Given the description of an element on the screen output the (x, y) to click on. 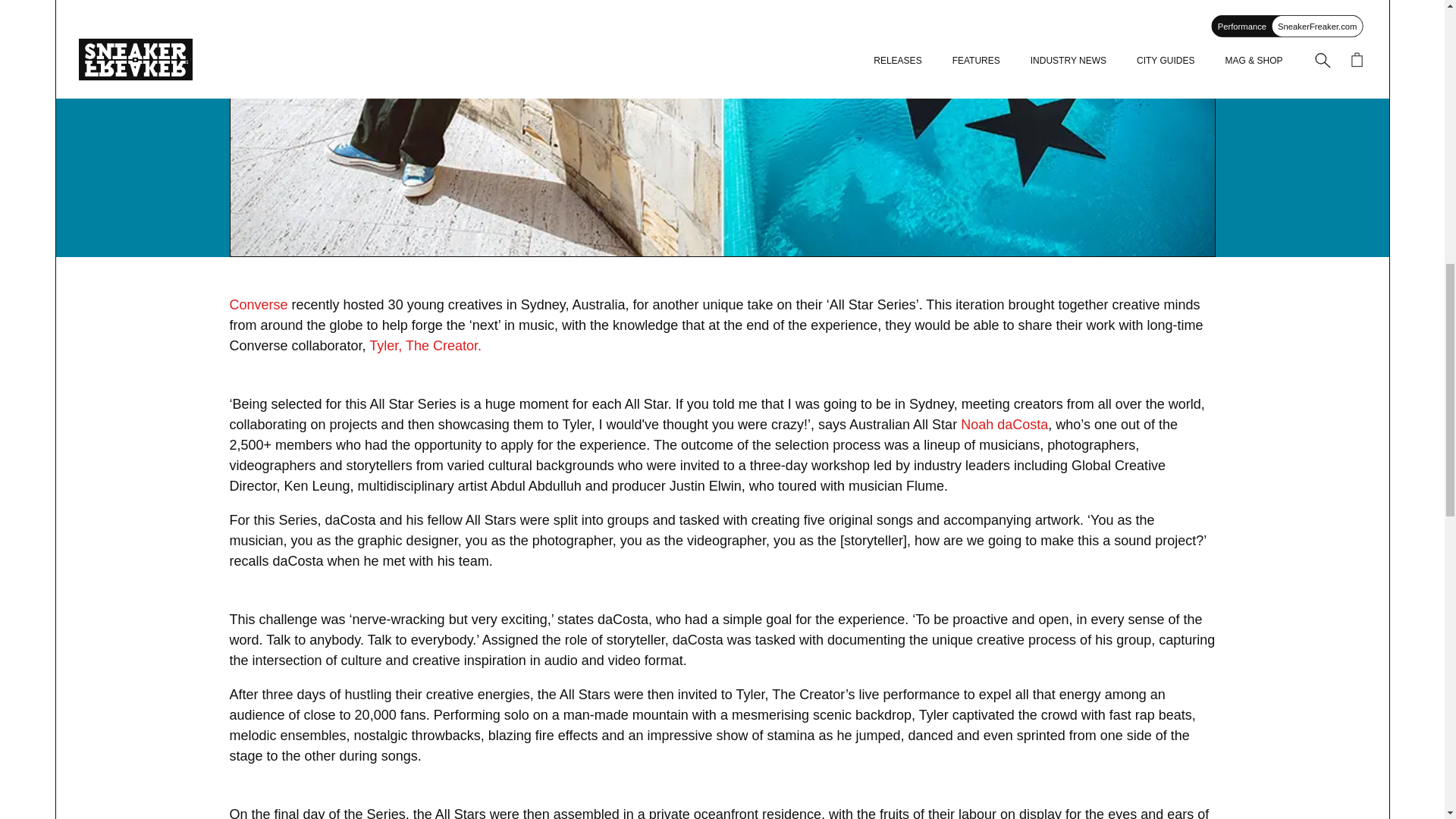
Noah daCosta (1004, 424)
Tyler, The Creator. (425, 345)
Converse (257, 304)
